Given the description of an element on the screen output the (x, y) to click on. 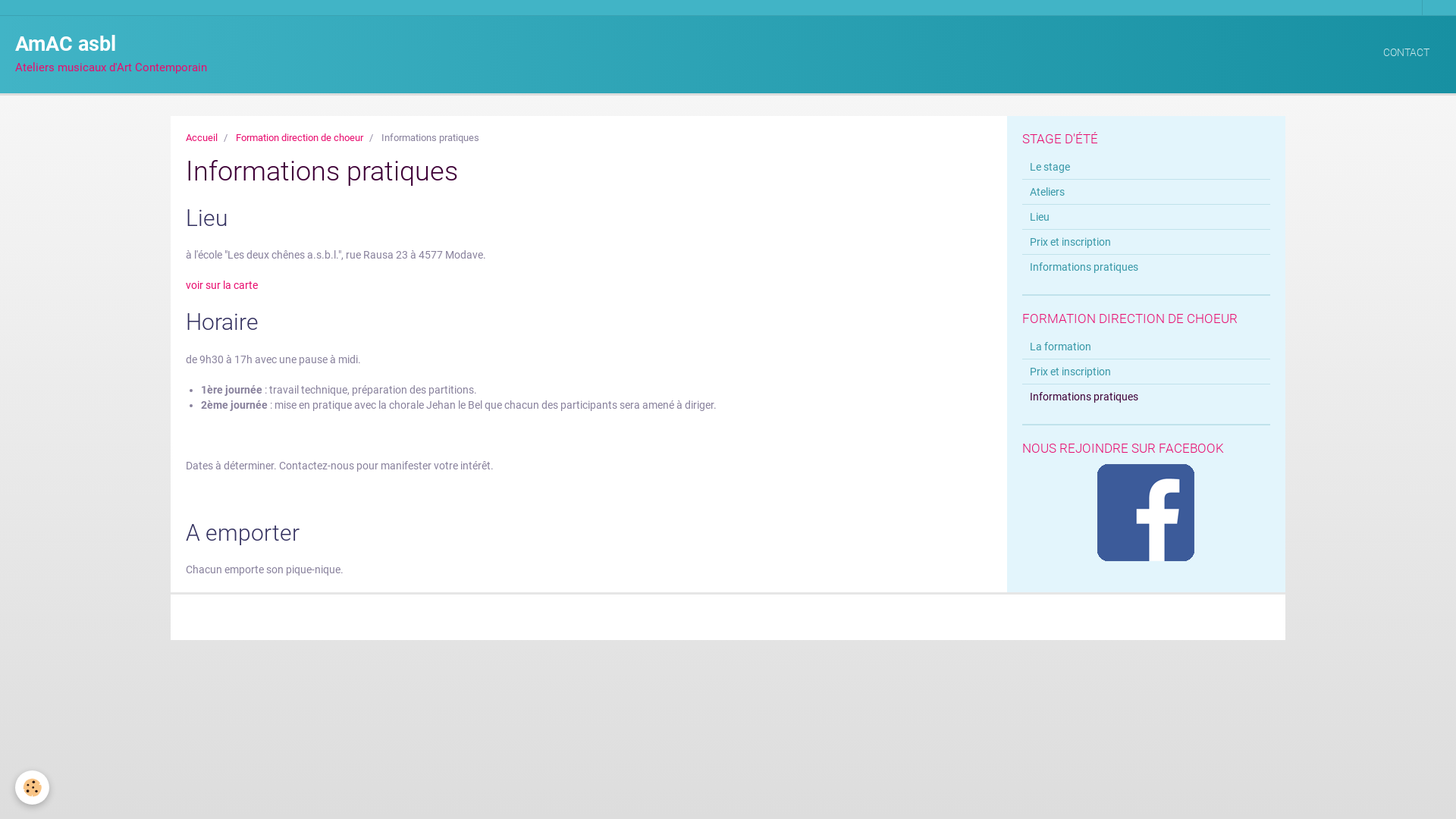
Prix et inscription Element type: text (1146, 241)
Lieu Element type: text (1146, 216)
La formation Element type: text (1146, 346)
AmAC asbl
Ateliers musicaux d'Art Contemporain Element type: text (111, 52)
Prix et inscription Element type: text (1146, 371)
CONTACT Element type: text (1405, 52)
FORMATION DIRECTION DE CHOEUR Element type: text (1146, 318)
voir sur la carte Element type: text (221, 285)
Informations pratiques Element type: text (1146, 266)
Informations pratiques Element type: text (1146, 396)
Ateliers Element type: text (1146, 191)
Le stage Element type: text (1146, 166)
Formation direction de choeur Element type: text (299, 137)
Accueil Element type: text (201, 137)
